Given the description of an element on the screen output the (x, y) to click on. 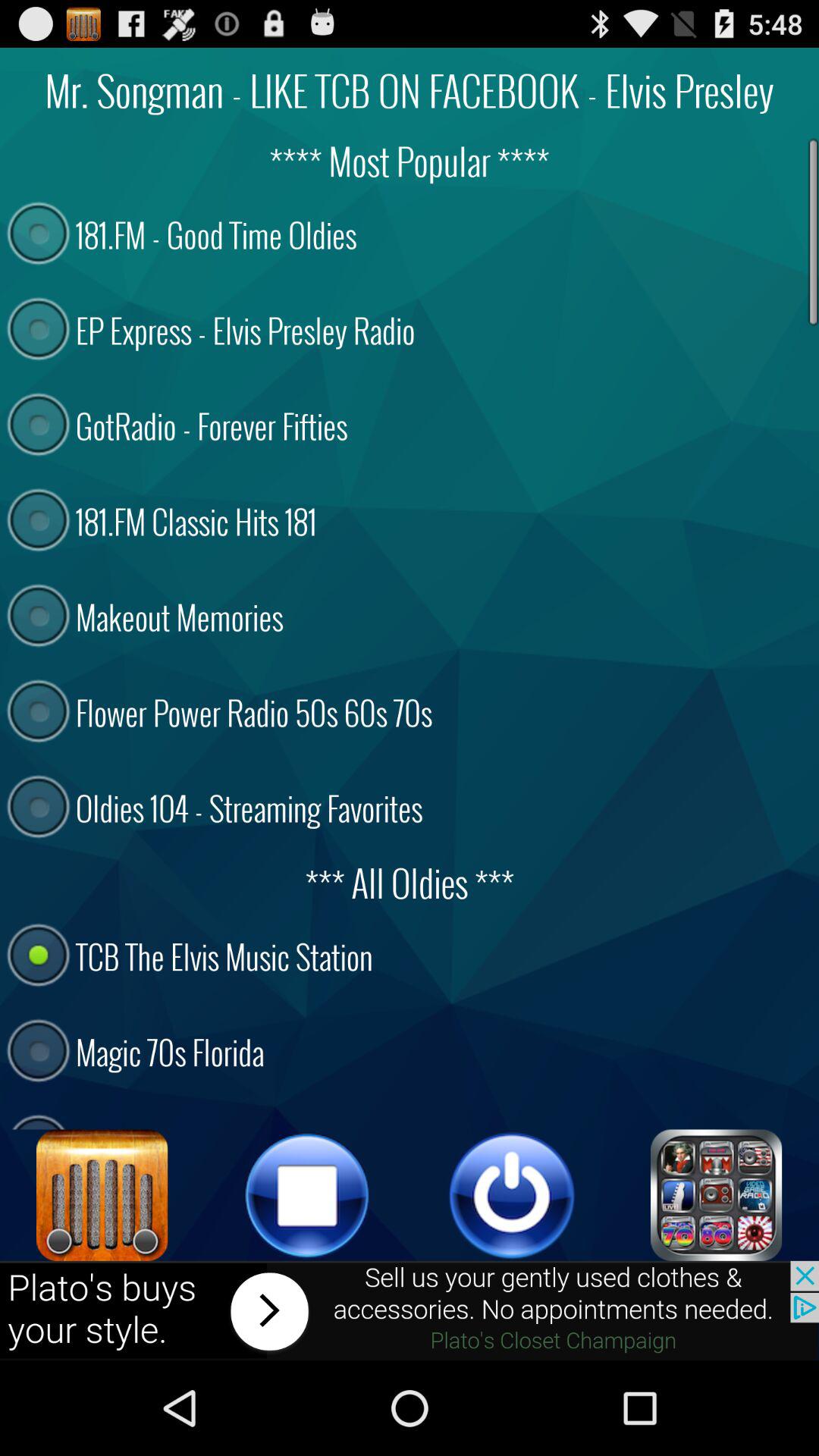
stop (306, 1194)
